Given the description of an element on the screen output the (x, y) to click on. 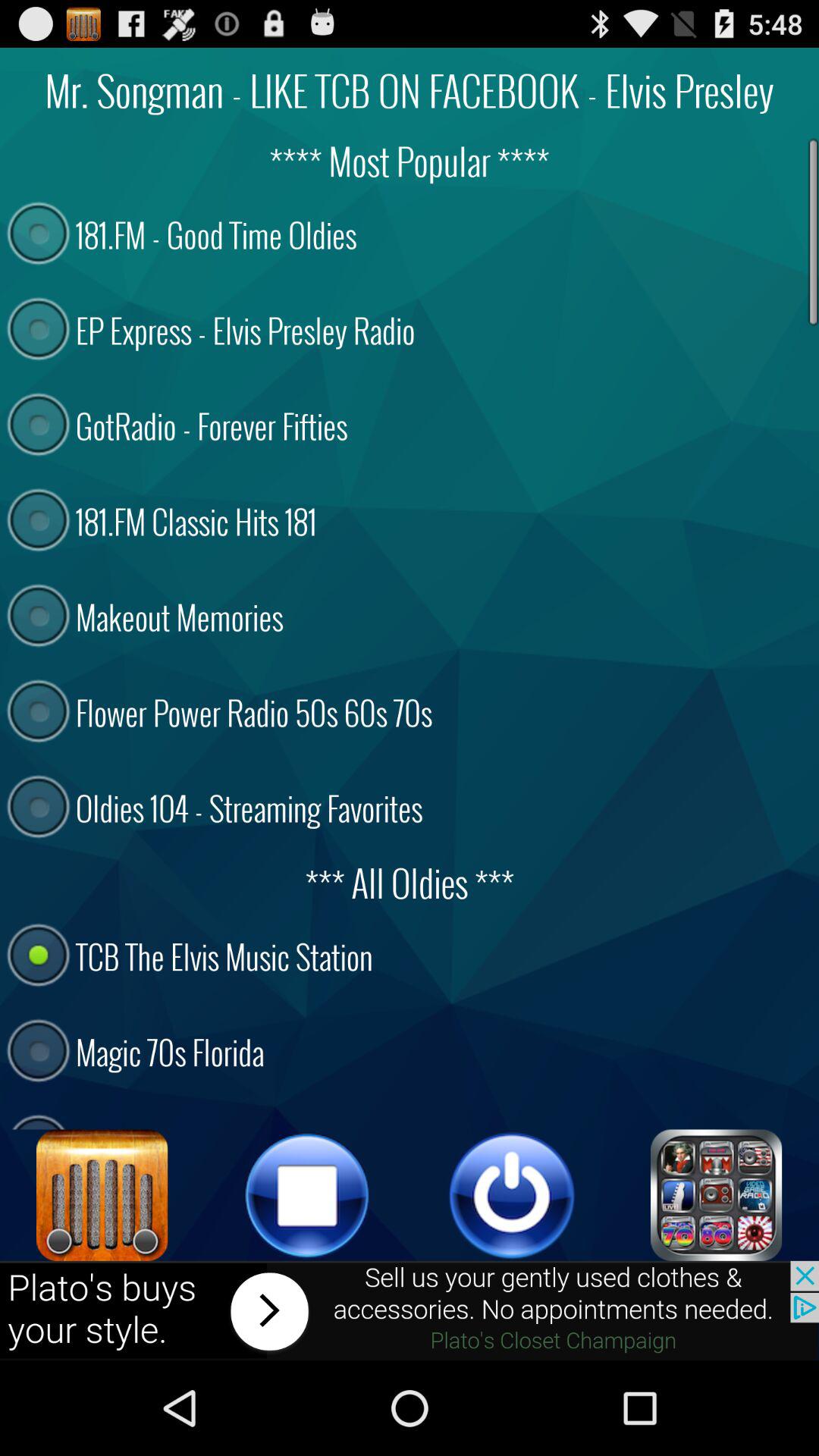
stop (306, 1194)
